Given the description of an element on the screen output the (x, y) to click on. 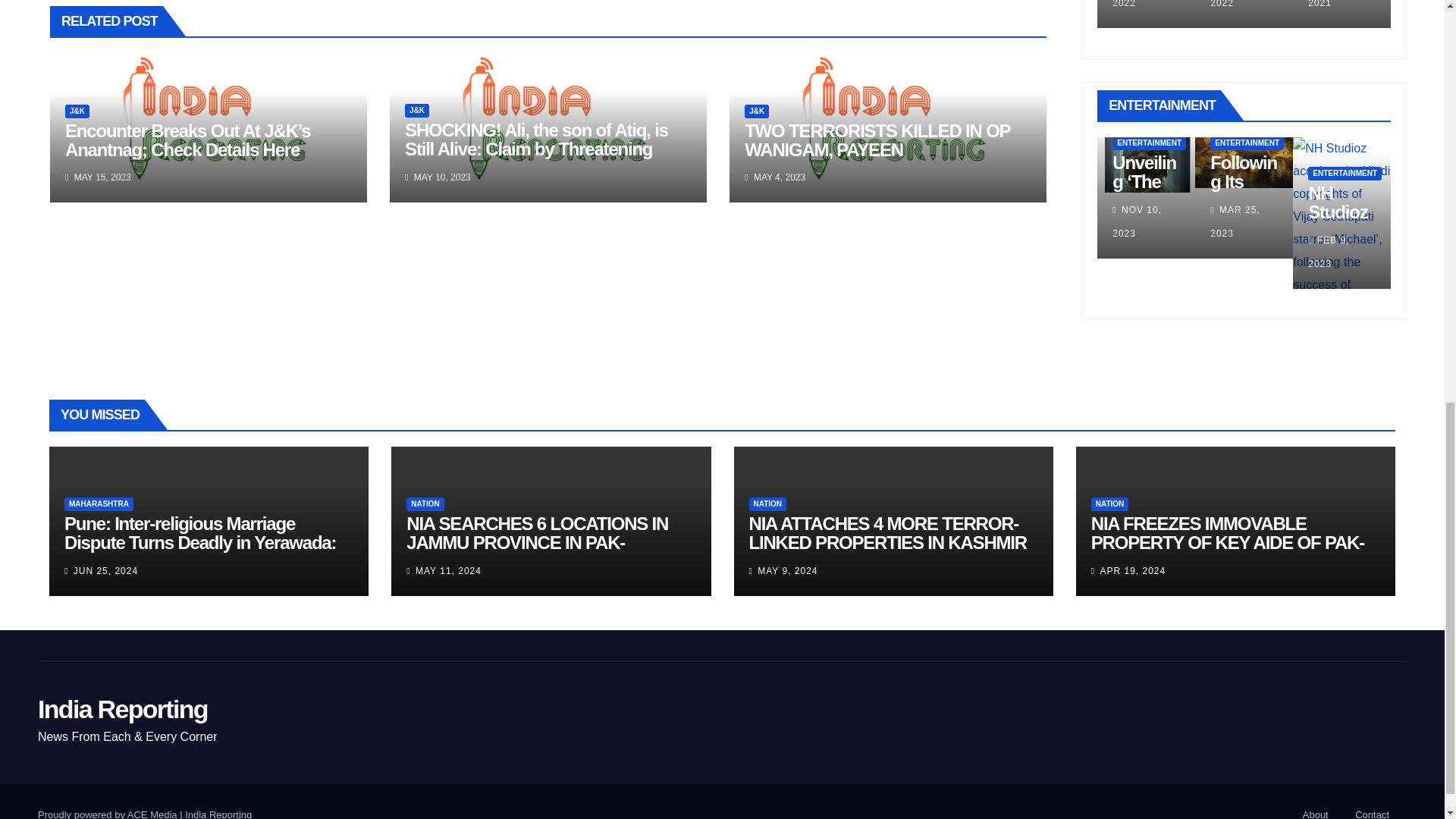
Permalink to: TWO TERRORISTS KILLED IN OP WANIGAM, PAYEEN (877, 139)
TWO TERRORISTS KILLED IN OP WANIGAM, PAYEEN (877, 139)
